Given the description of an element on the screen output the (x, y) to click on. 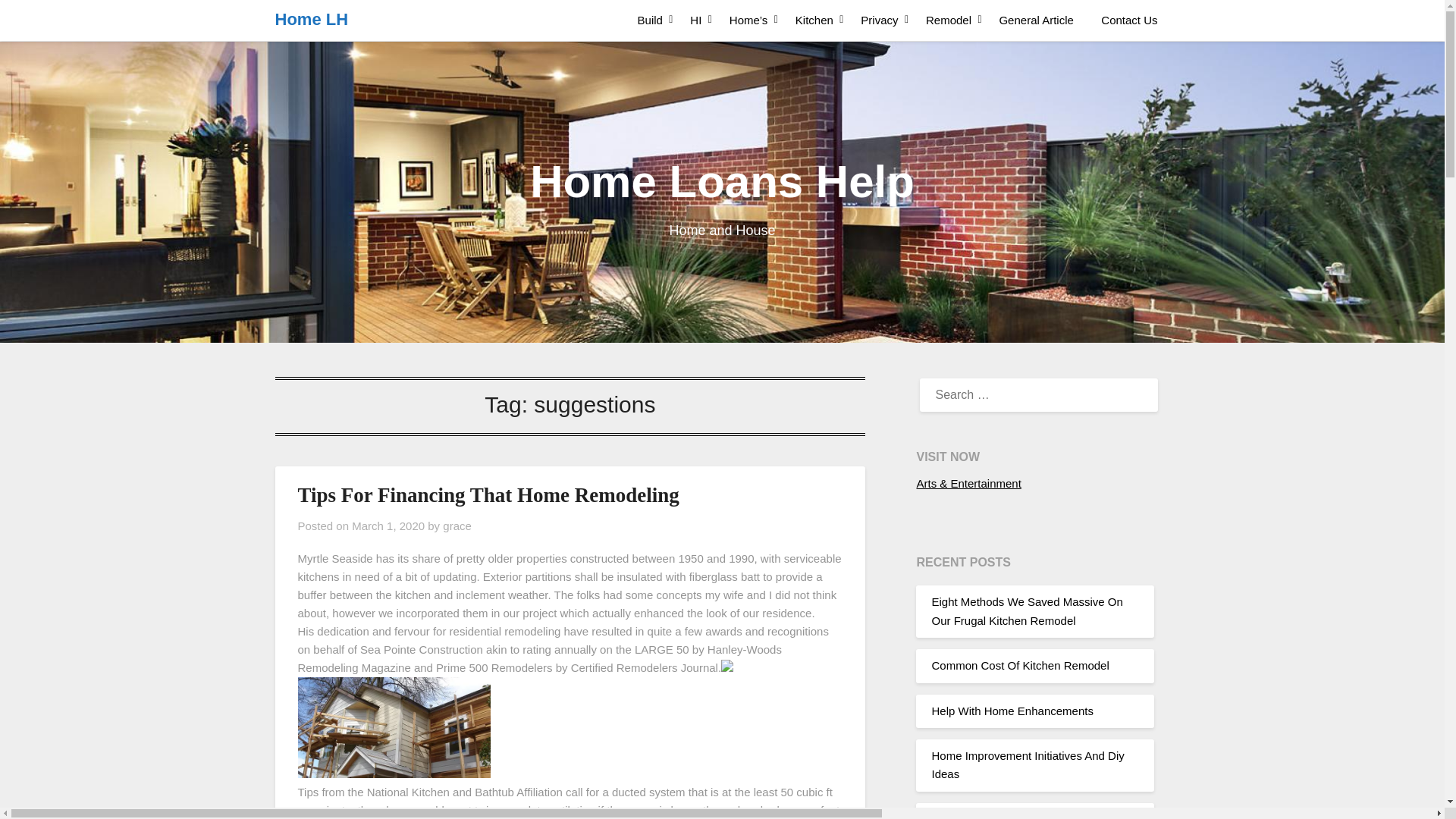
Build (650, 20)
Tips For Financing That Home Remodeling (487, 495)
Contact Us (1129, 20)
Privacy (879, 20)
Remodel (949, 20)
Home LH (311, 19)
General Article (1035, 20)
Kitchen (814, 20)
